Given the description of an element on the screen output the (x, y) to click on. 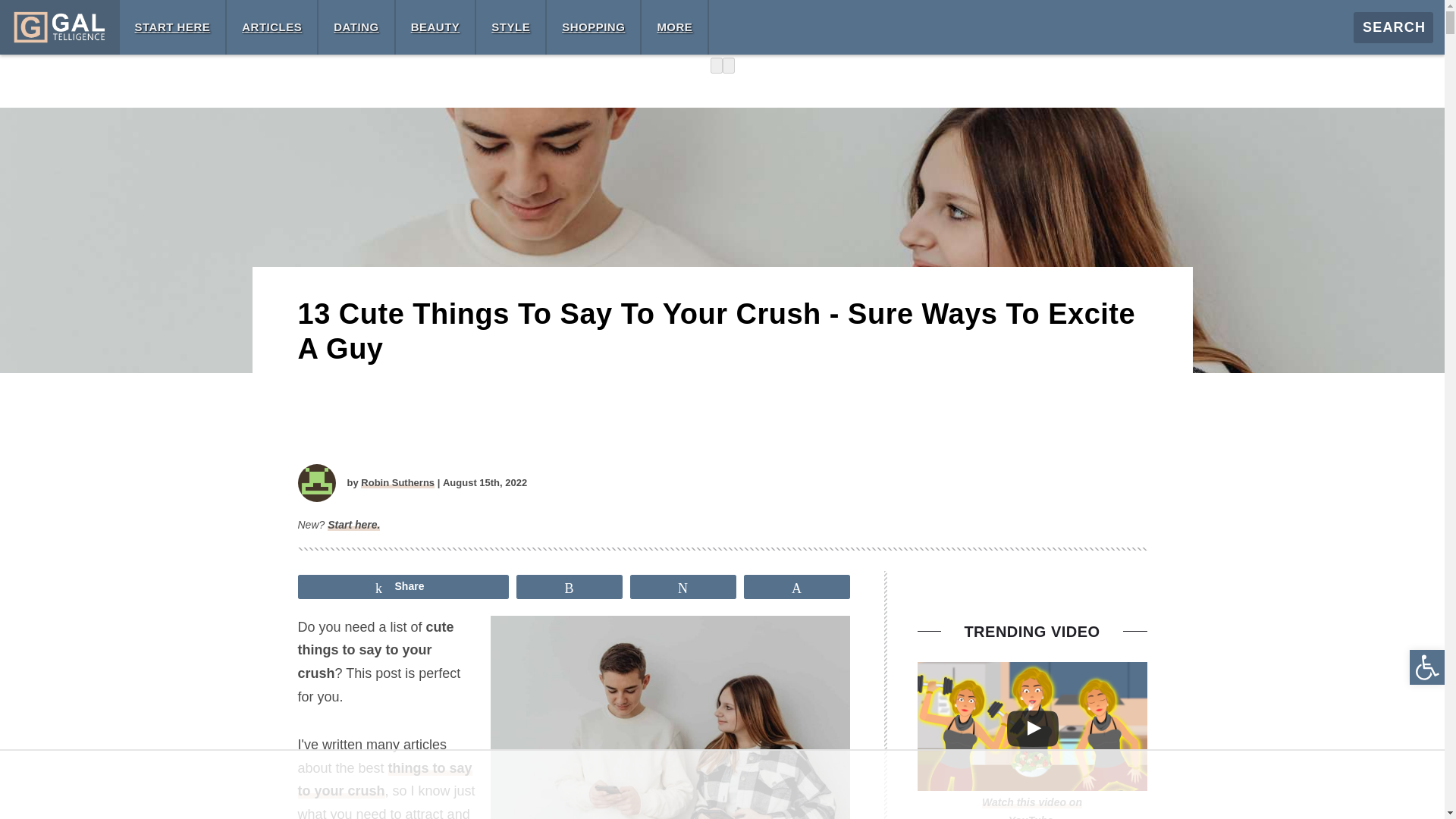
DATING (355, 27)
SHOPPING (592, 27)
STYLE (510, 27)
START HERE (173, 27)
MORE (674, 27)
Accessibility Tools (1427, 666)
View all posts by Robin Sutherns (397, 482)
ARTICLES (271, 27)
BEAUTY (435, 27)
